Given the description of an element on the screen output the (x, y) to click on. 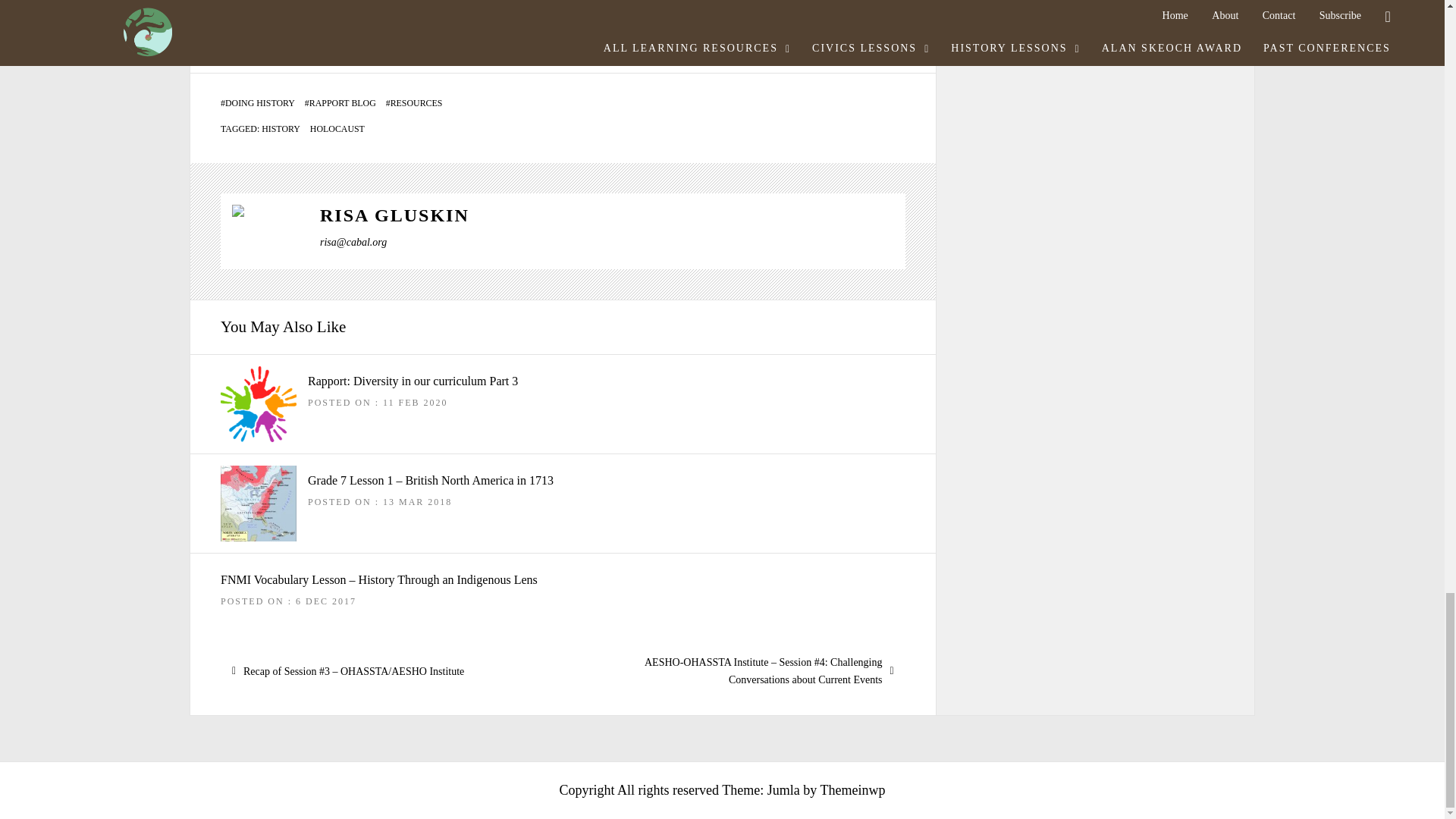
Share on Facebook (410, 39)
